Given the description of an element on the screen output the (x, y) to click on. 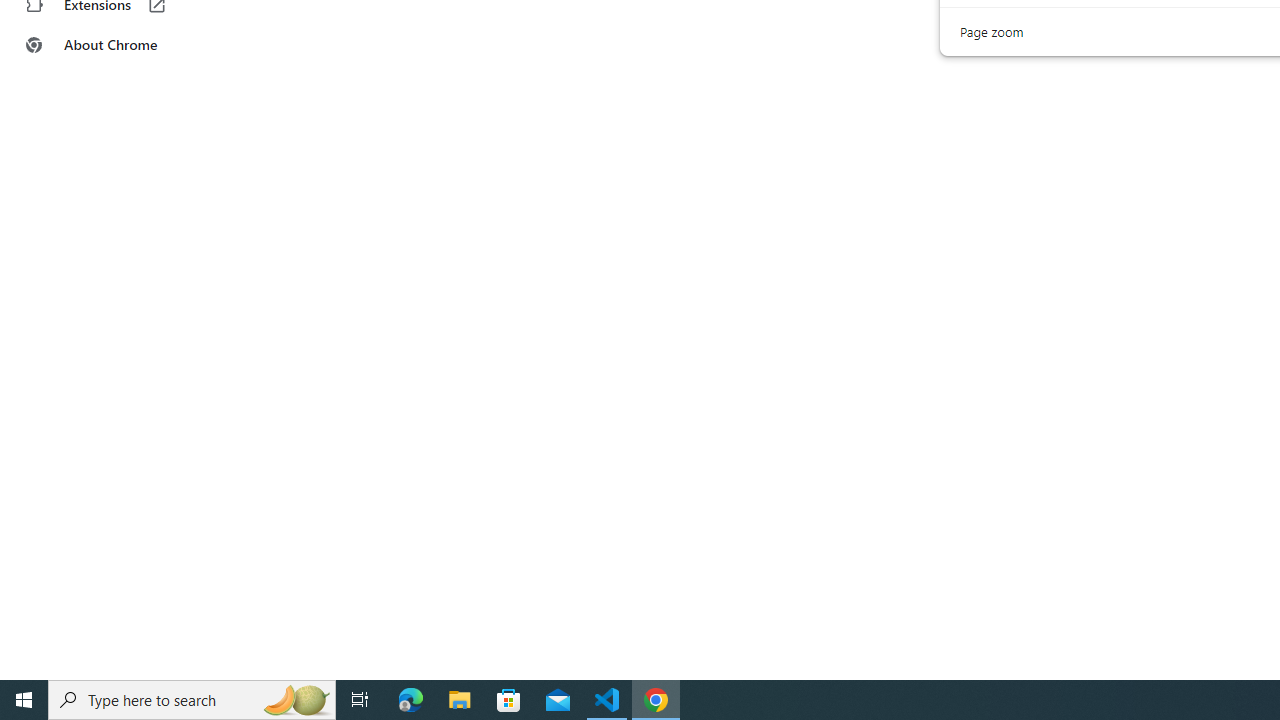
About Chrome (124, 44)
